Given the description of an element on the screen output the (x, y) to click on. 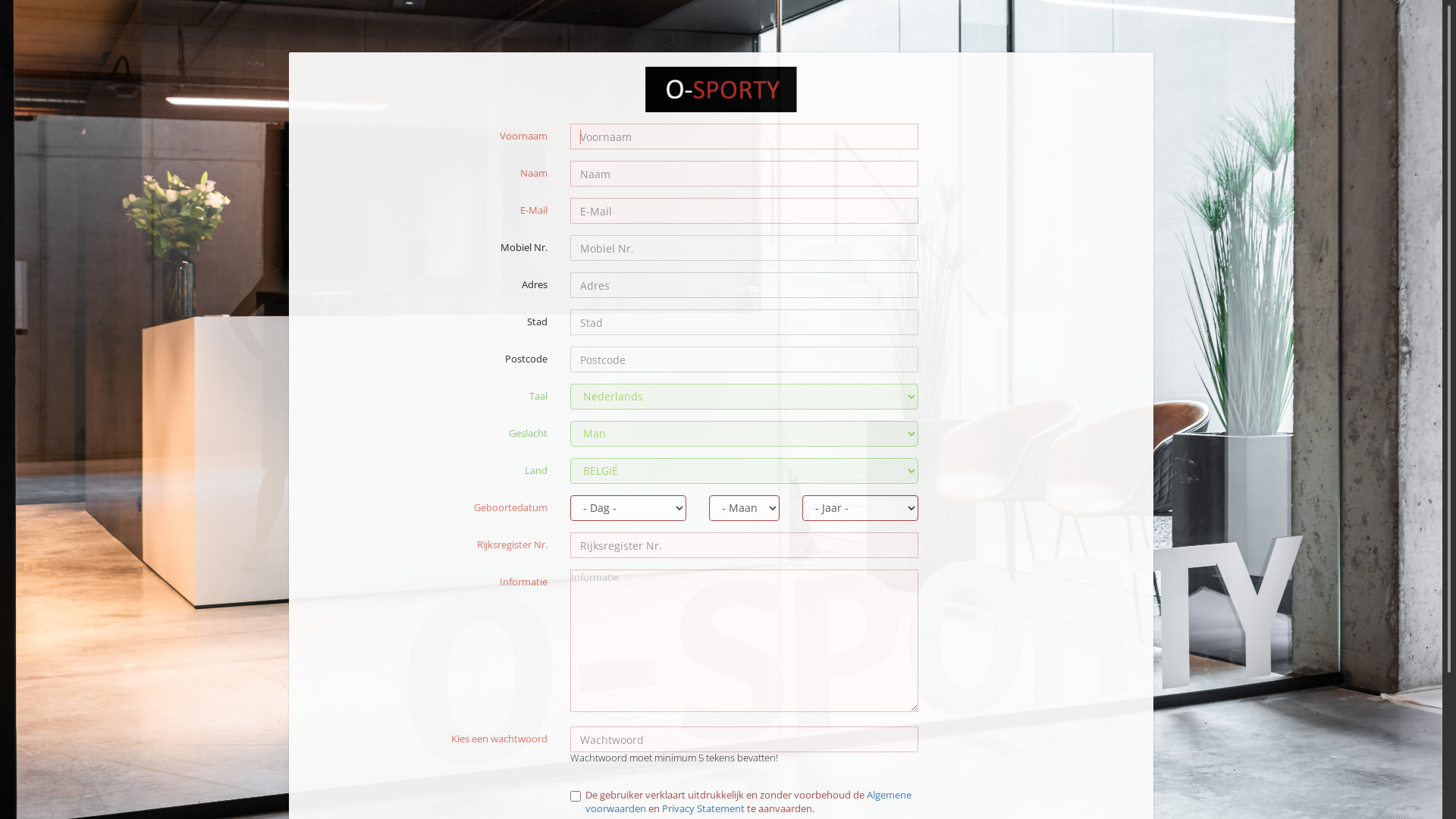
Privacy Statement Element type: text (703, 808)
Algemene voorwaarden Element type: text (748, 801)
